Given the description of an element on the screen output the (x, y) to click on. 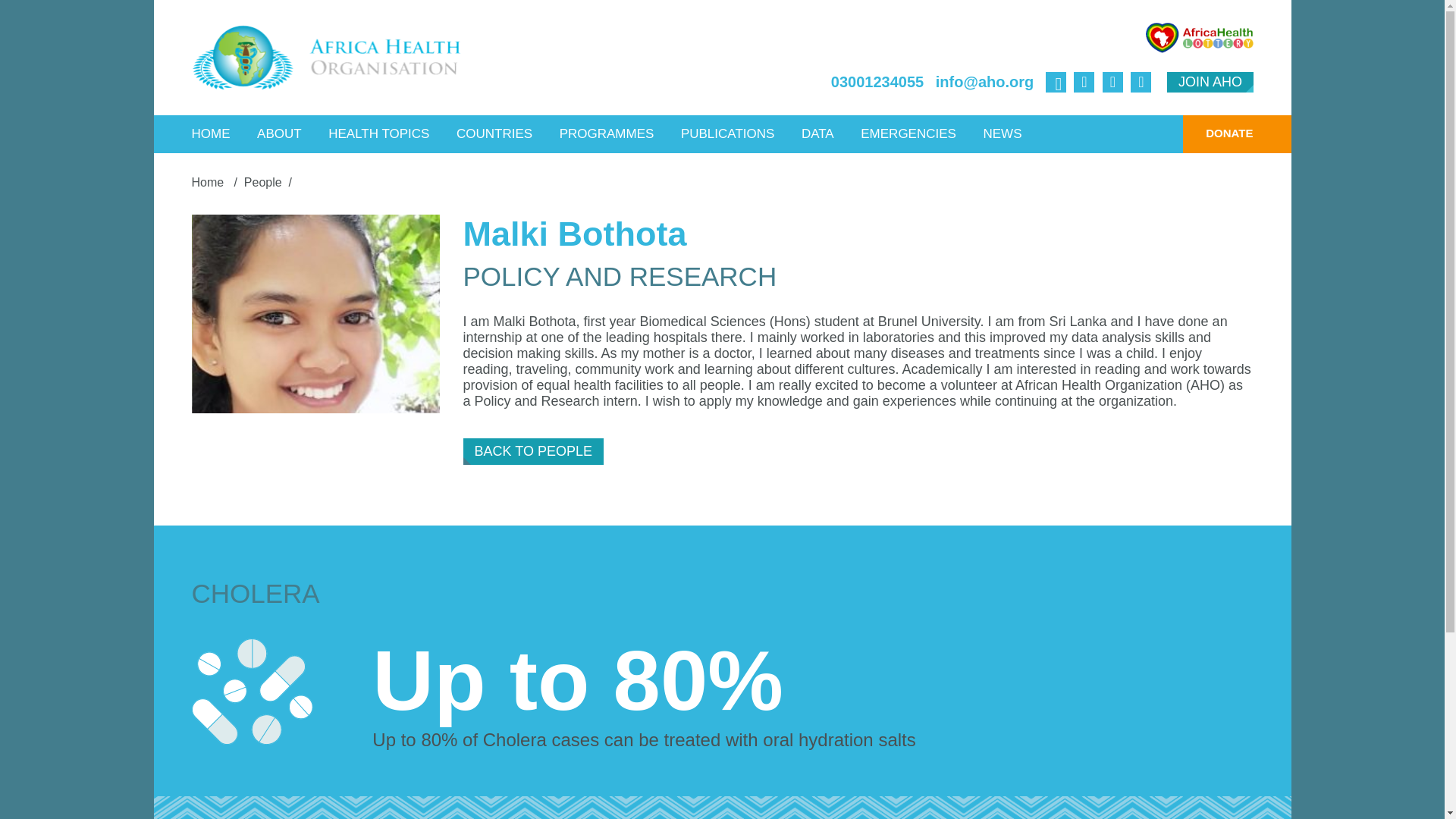
PUBLICATIONS (727, 134)
DATA (817, 134)
BACK TO PEOPLE (533, 451)
People (263, 182)
HOME (210, 134)
NEWS (1001, 134)
Go to People. (263, 182)
03001234055 (877, 81)
JOIN AHO (1210, 82)
DONATE (1217, 134)
Go to Africa Health Organisation. (208, 182)
Home (208, 182)
HEALTH TOPICS (379, 134)
ABOUT (279, 134)
COUNTRIES (494, 134)
